Given the description of an element on the screen output the (x, y) to click on. 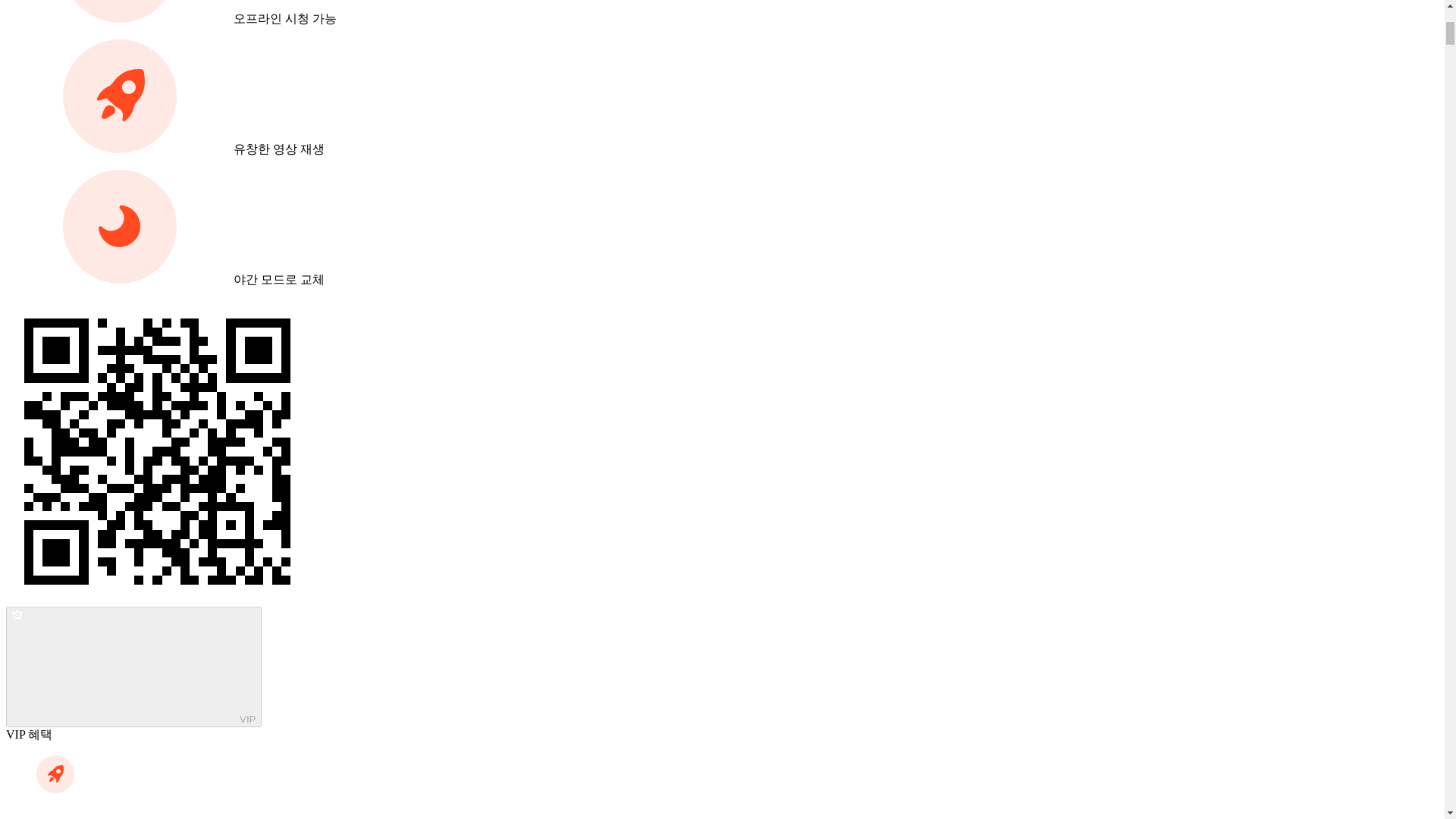
VIP (133, 666)
